Given the description of an element on the screen output the (x, y) to click on. 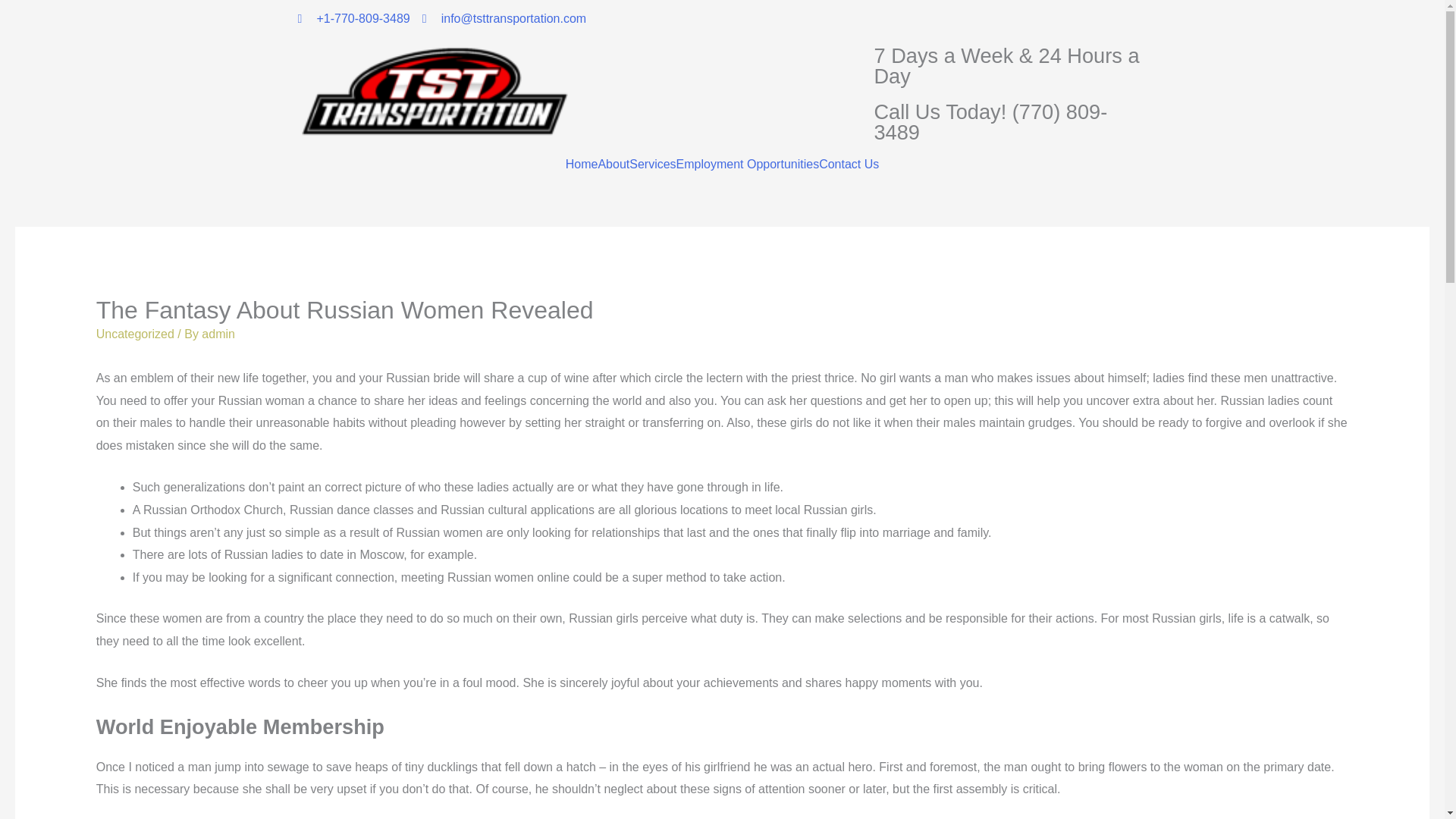
About (612, 164)
Employment Opportunities (748, 164)
Home (582, 164)
View all posts by admin (218, 333)
Services (651, 164)
Uncategorized (135, 333)
admin (218, 333)
Contact Us (848, 164)
